Given the description of an element on the screen output the (x, y) to click on. 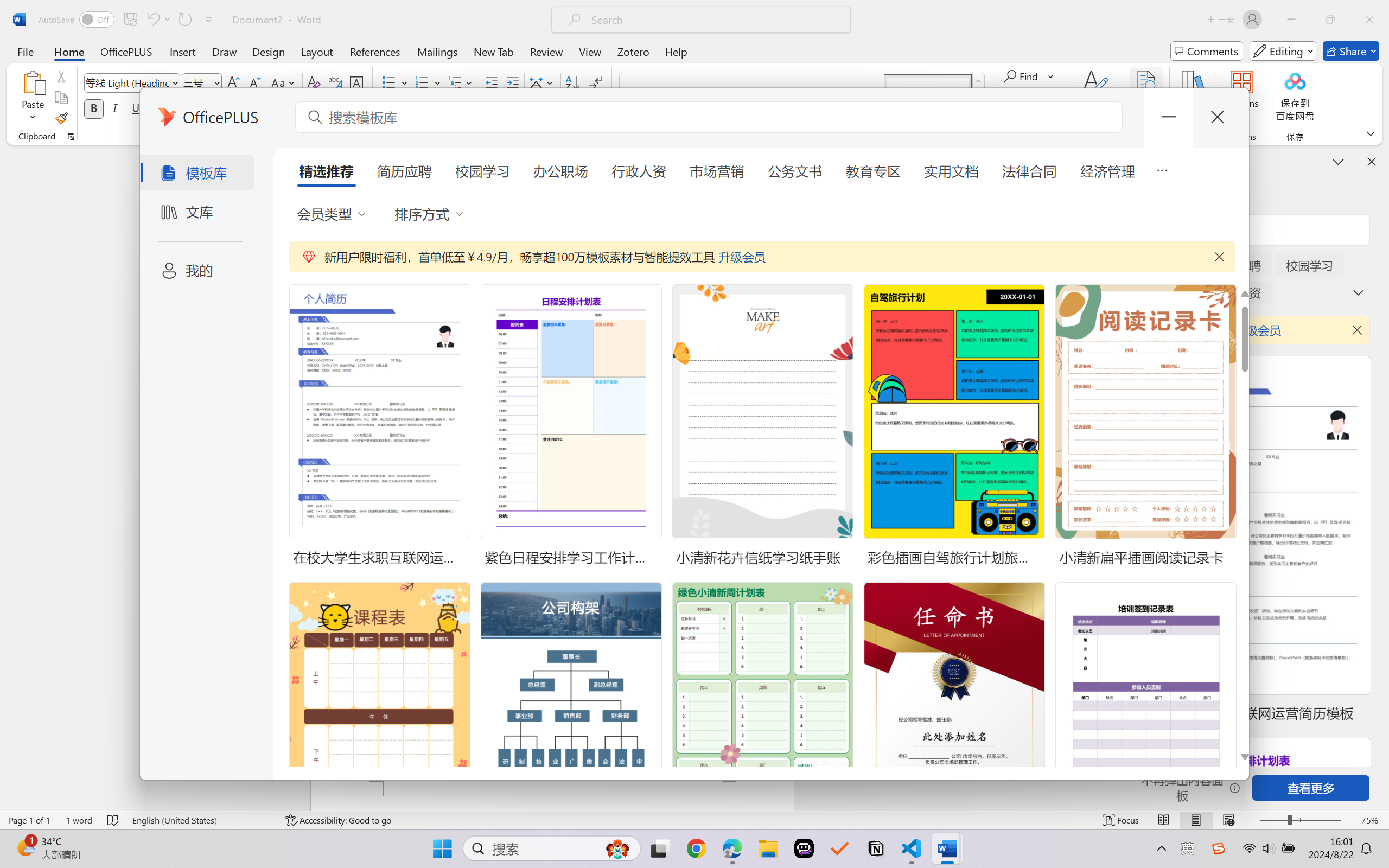
More Options (1051, 75)
Focus  (1121, 819)
File Tab (24, 51)
Google Chrome (696, 848)
Print Layout (1196, 819)
Word Count 1 word (78, 819)
Task Pane Options (1338, 161)
Read Mode (1163, 819)
Undo Typing (152, 19)
